Given the description of an element on the screen output the (x, y) to click on. 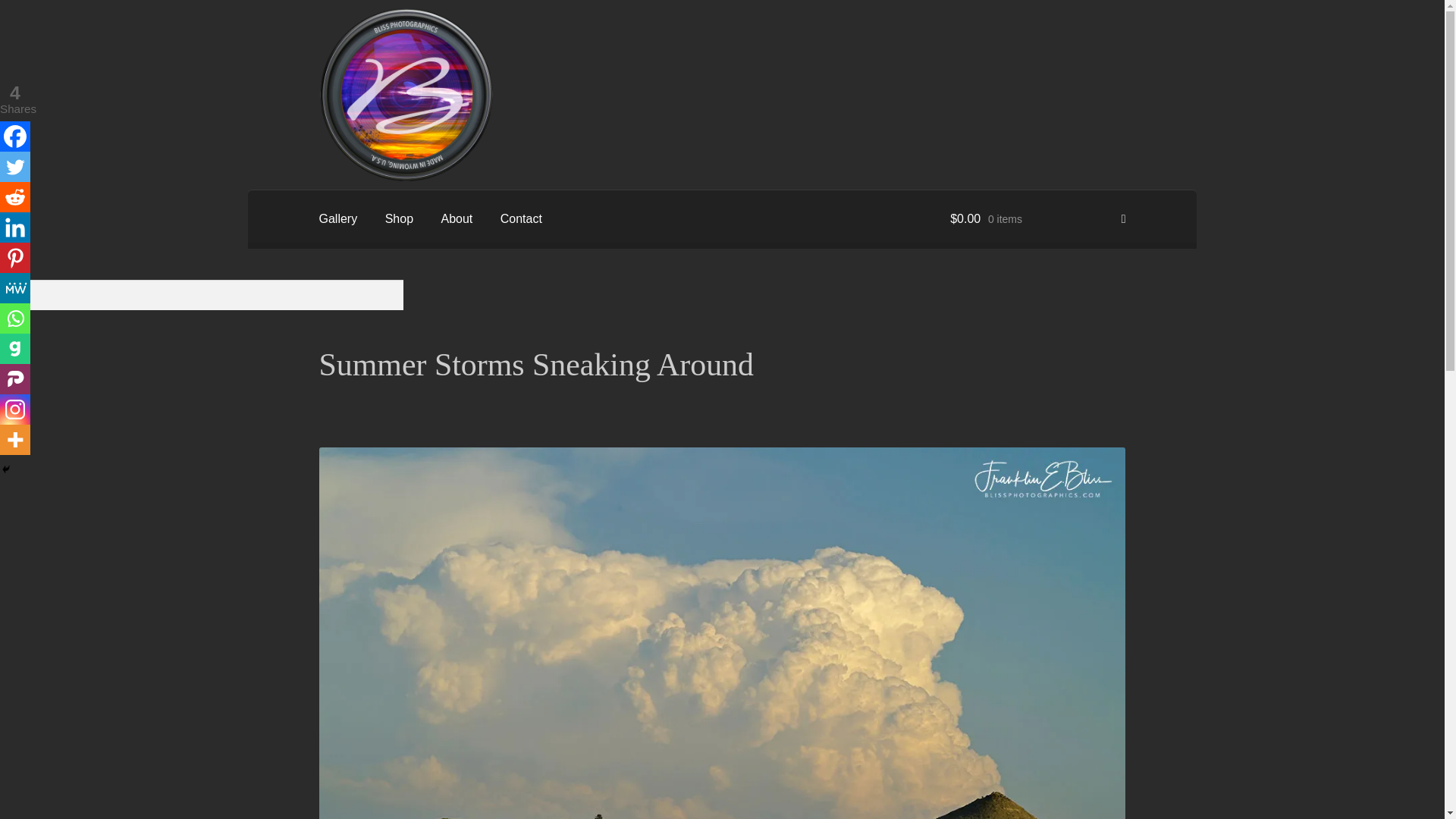
About (456, 218)
Contact (520, 218)
View your shopping cart (1037, 218)
Gallery (338, 218)
